Given the description of an element on the screen output the (x, y) to click on. 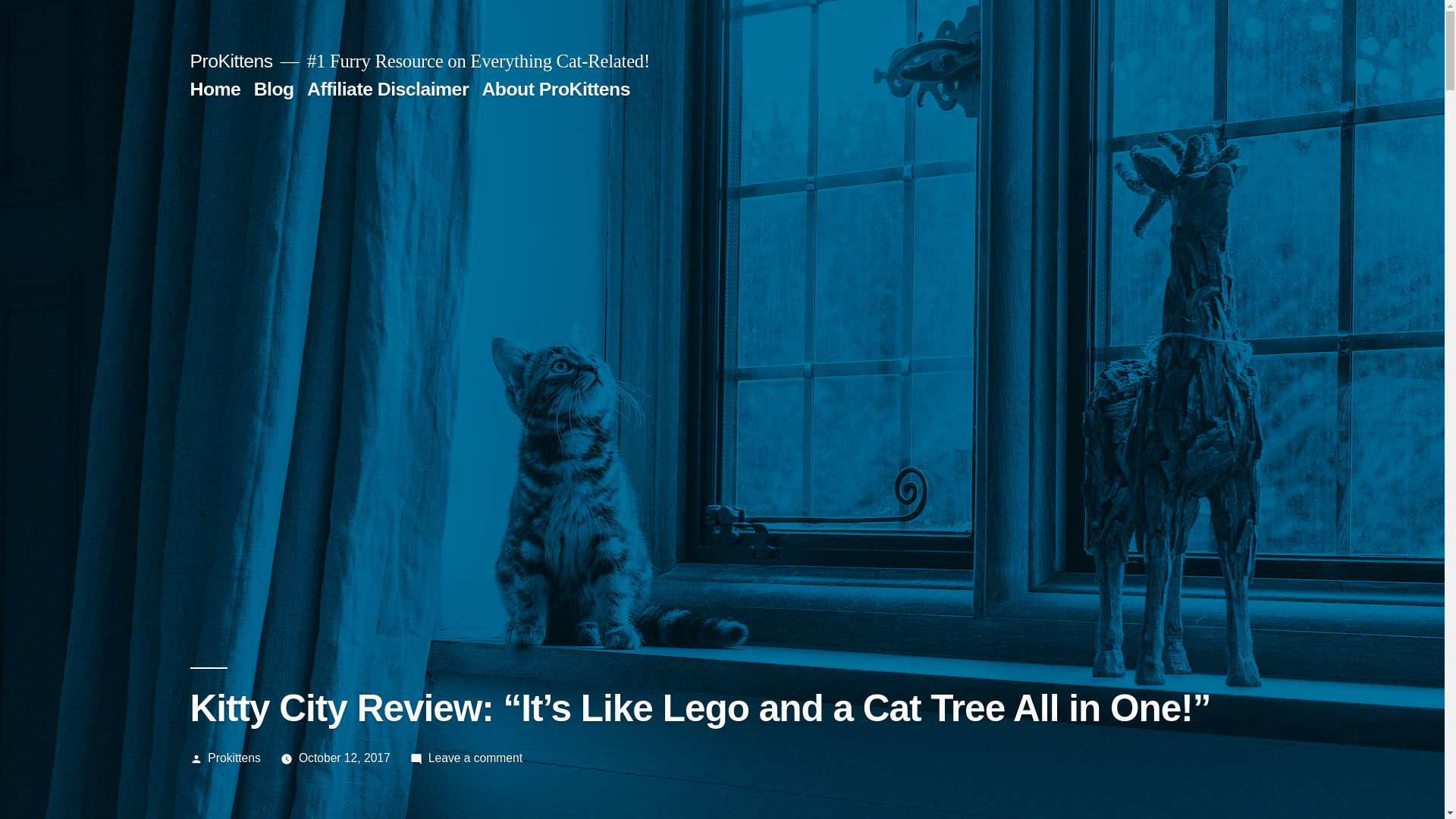
October 12, 2017 (344, 757)
Affiliate Disclaimer (387, 88)
Prokittens (234, 757)
ProKittens (230, 60)
Home (214, 88)
Blog (273, 88)
About ProKittens (555, 88)
